Given the description of an element on the screen output the (x, y) to click on. 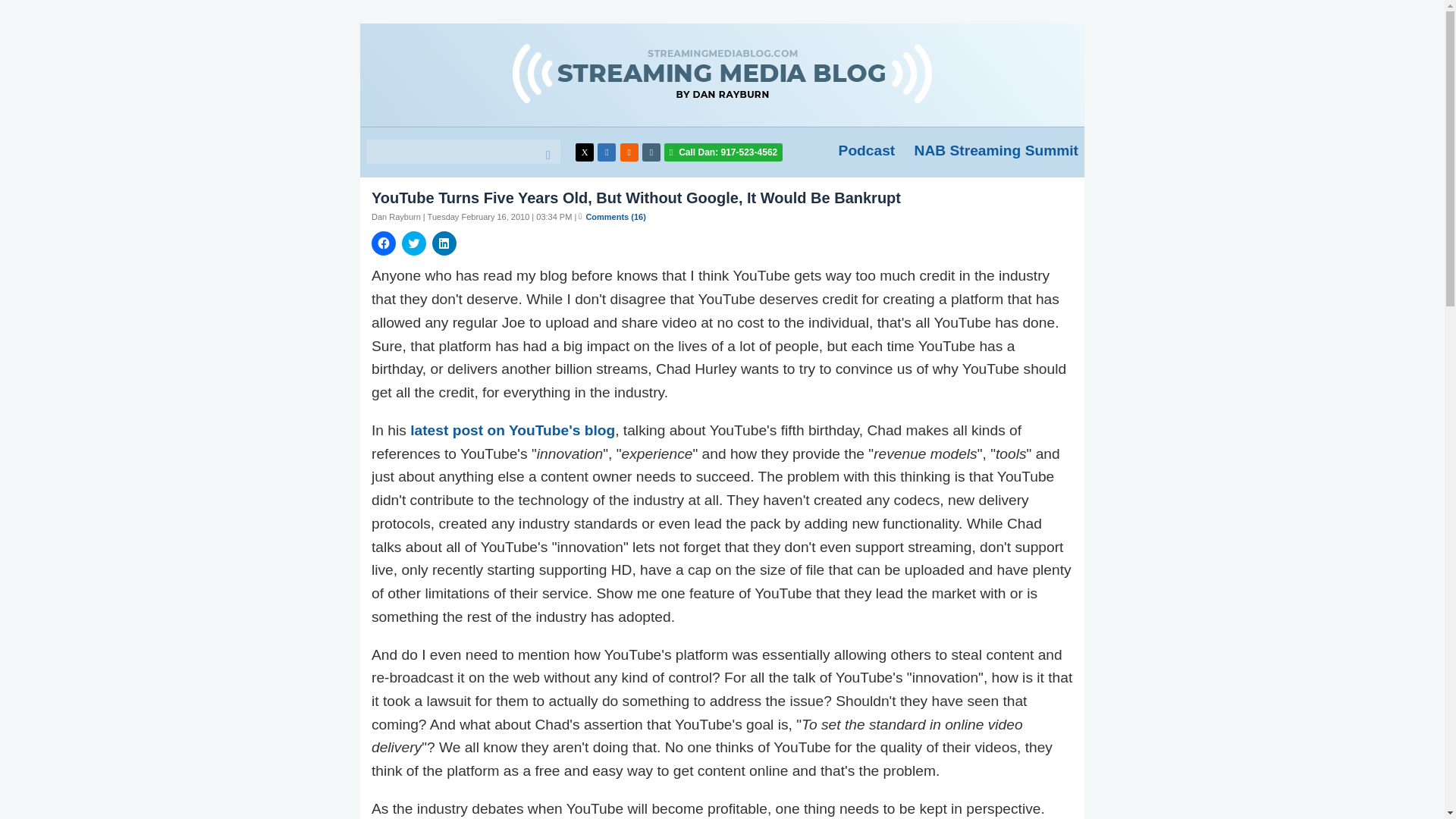
Dan Rayburn Podcast (866, 150)
Click to share on Facebook (383, 242)
latest post on YouTube's blog (512, 430)
Call Dan: 917-523-4562 (722, 152)
Search (544, 154)
NAB Streaming Summit (996, 150)
NAB Streaming Summit (996, 150)
Search (544, 154)
Podcast (866, 150)
Click to share on LinkedIn (444, 242)
Click to share on Twitter (413, 242)
